Given the description of an element on the screen output the (x, y) to click on. 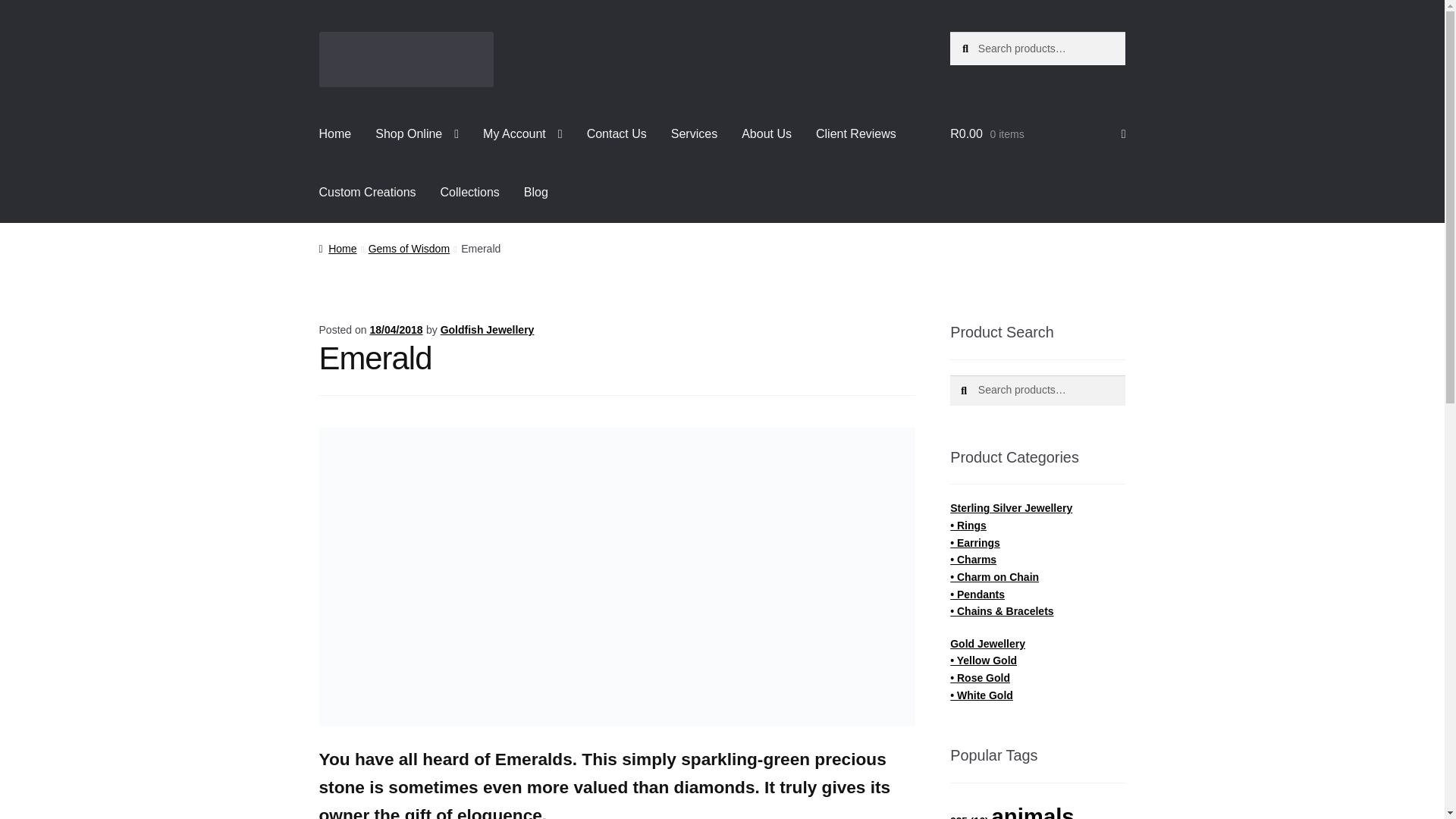
About Us (766, 133)
View your shopping cart (1037, 133)
Shop Online (416, 133)
Contact Us (617, 133)
My Account (522, 133)
Services (694, 133)
Collections (470, 191)
Client Reviews (855, 133)
